Given the description of an element on the screen output the (x, y) to click on. 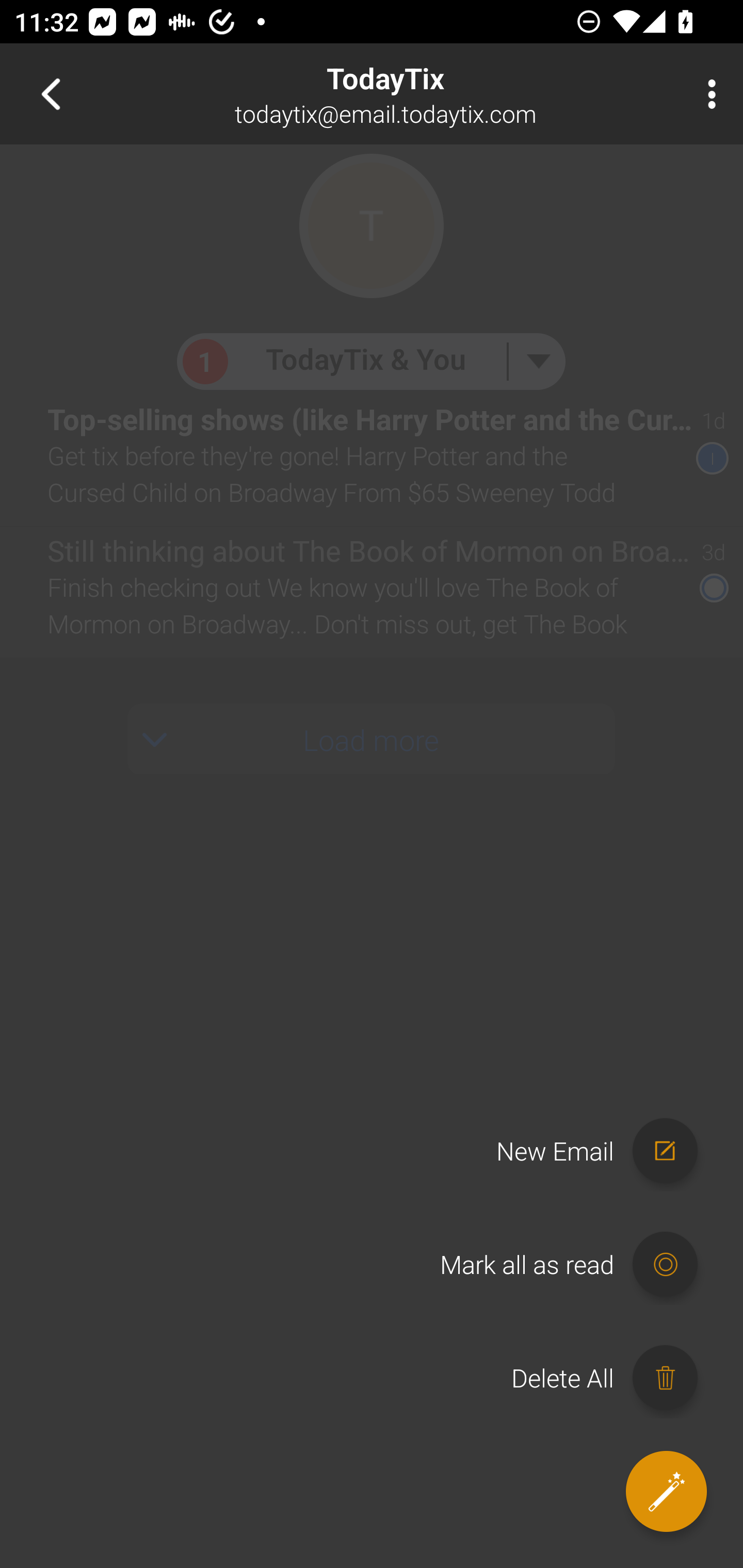
Navigate up (50, 93)
TodayTix todaytix@email.todaytix.com (436, 93)
More Options (706, 93)
New Email (606, 1150)
Mark all as read (577, 1264)
Delete All (613, 1378)
